Given the description of an element on the screen output the (x, y) to click on. 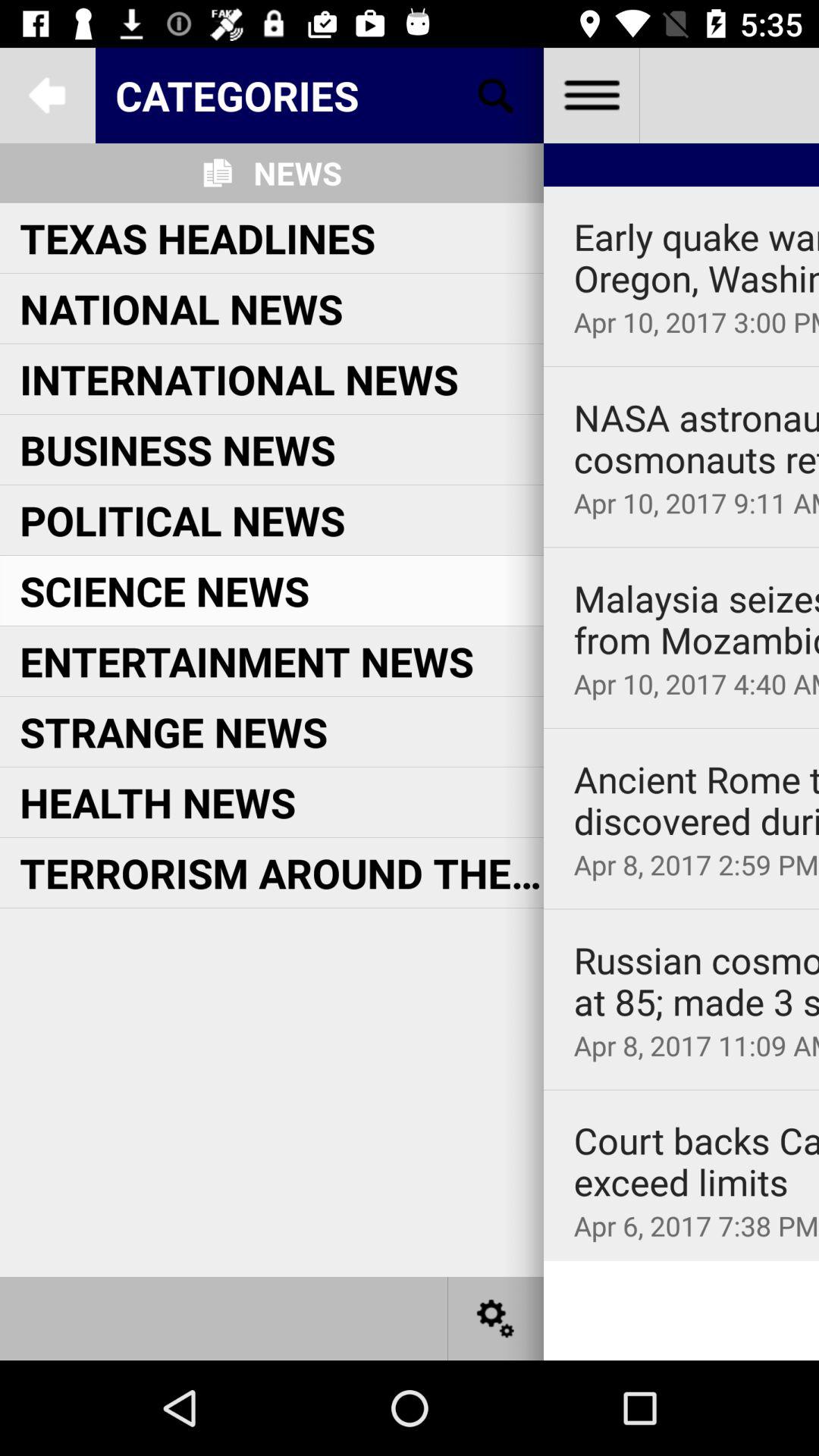
press the icon above apr 6 2017 icon (696, 1161)
